Given the description of an element on the screen output the (x, y) to click on. 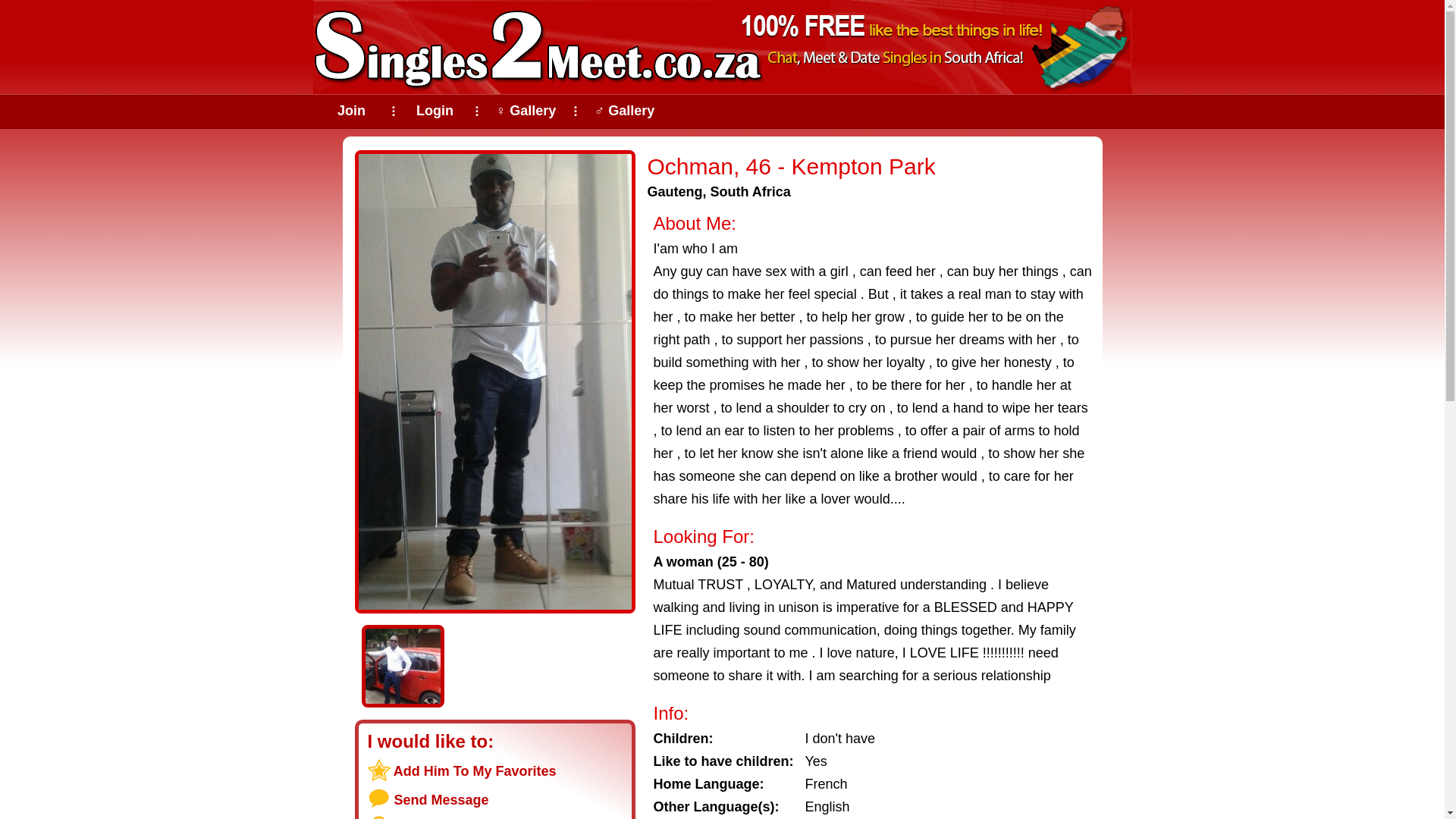
Send Message (441, 799)
Add Him To My Favorites (474, 770)
Join (351, 110)
Login (434, 110)
